Given the description of an element on the screen output the (x, y) to click on. 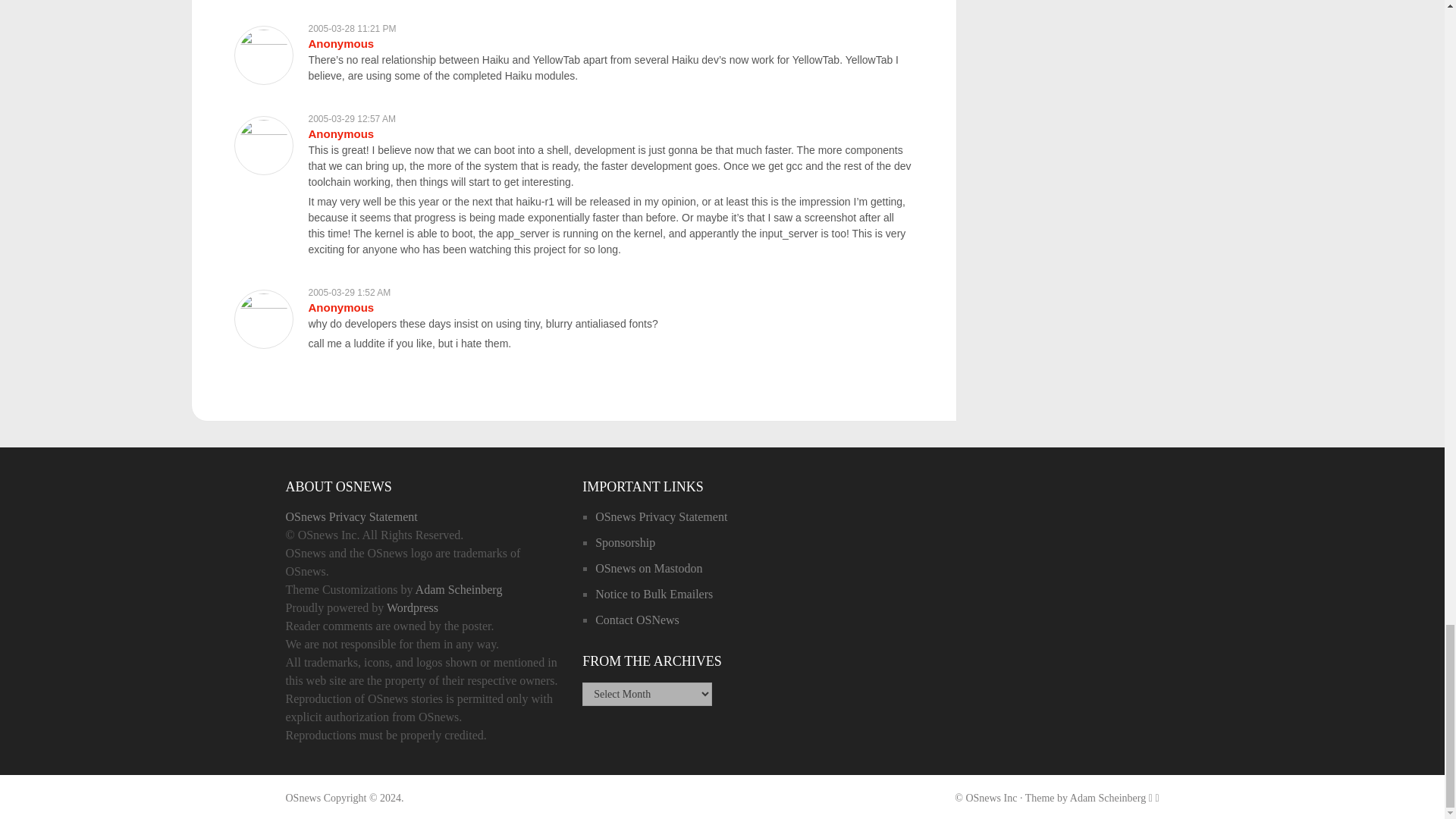
Anonymous (340, 307)
Anonymous (340, 133)
Anonymous (340, 42)
Exploring the Future of Computing (302, 797)
